Given the description of an element on the screen output the (x, y) to click on. 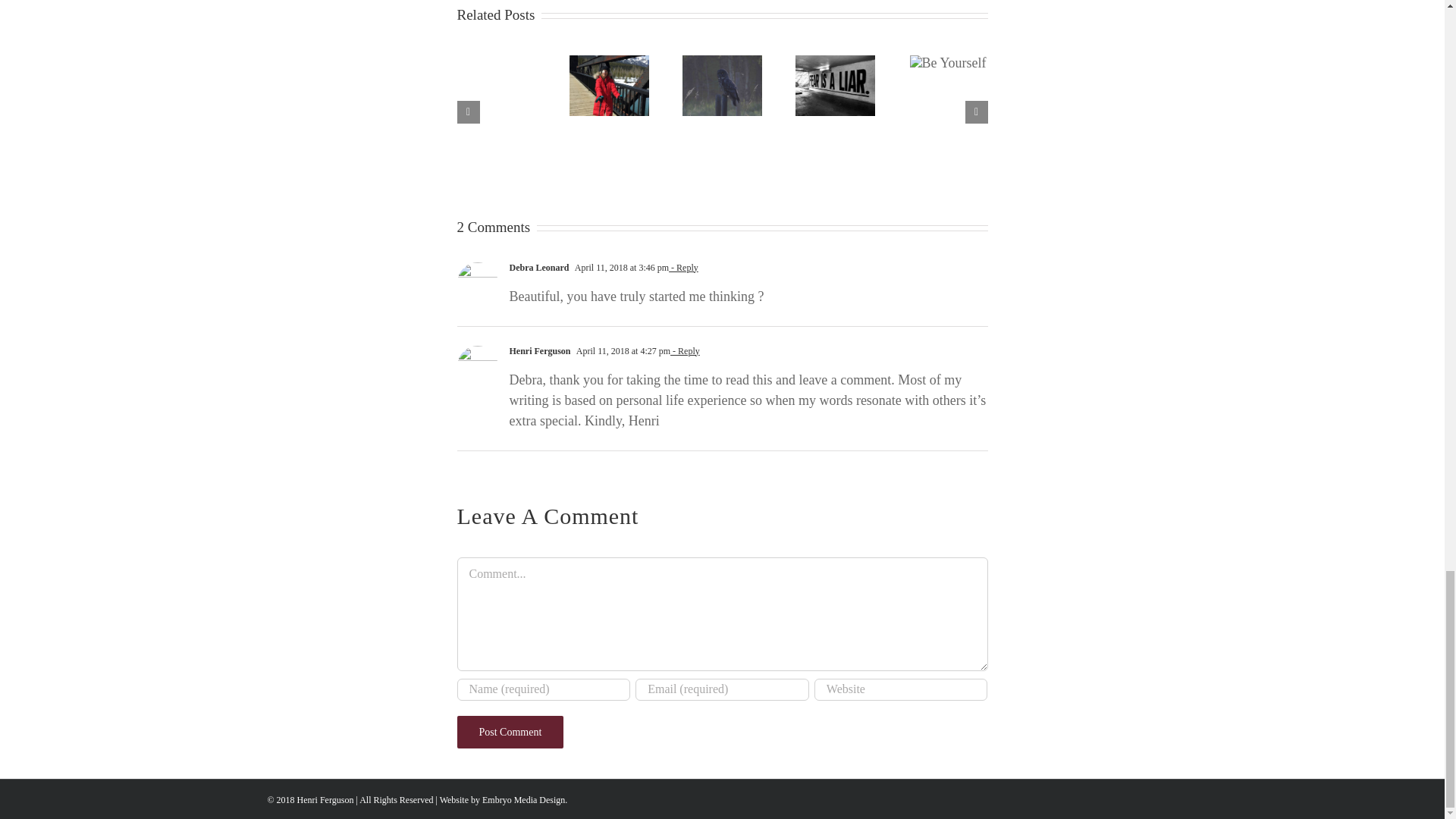
Post Comment (510, 731)
Post Comment (510, 731)
- Reply (684, 350)
Embryo Media Design (522, 799)
- Reply (683, 267)
